Given the description of an element on the screen output the (x, y) to click on. 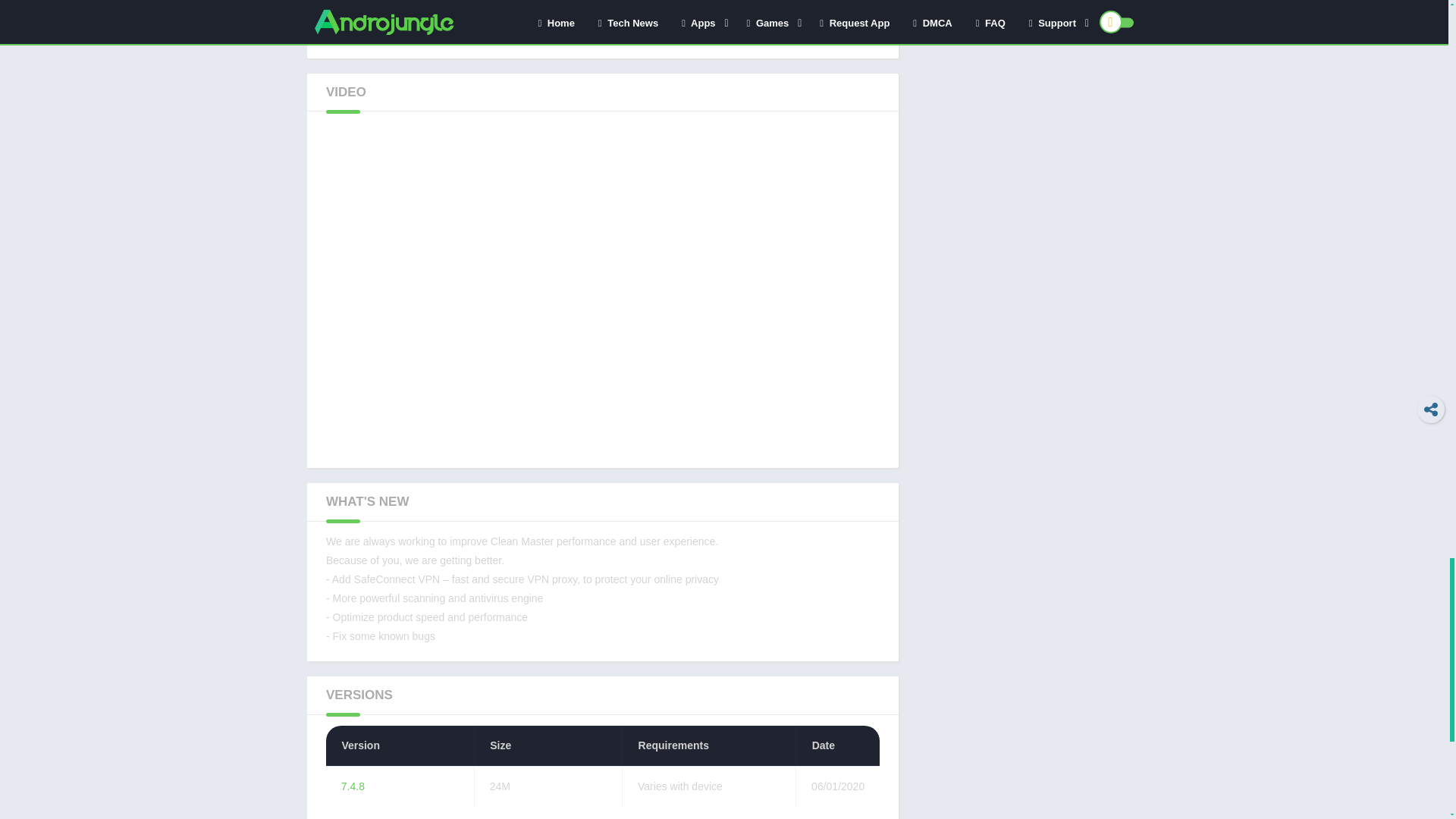
Previous (323, 21)
